Given the description of an element on the screen output the (x, y) to click on. 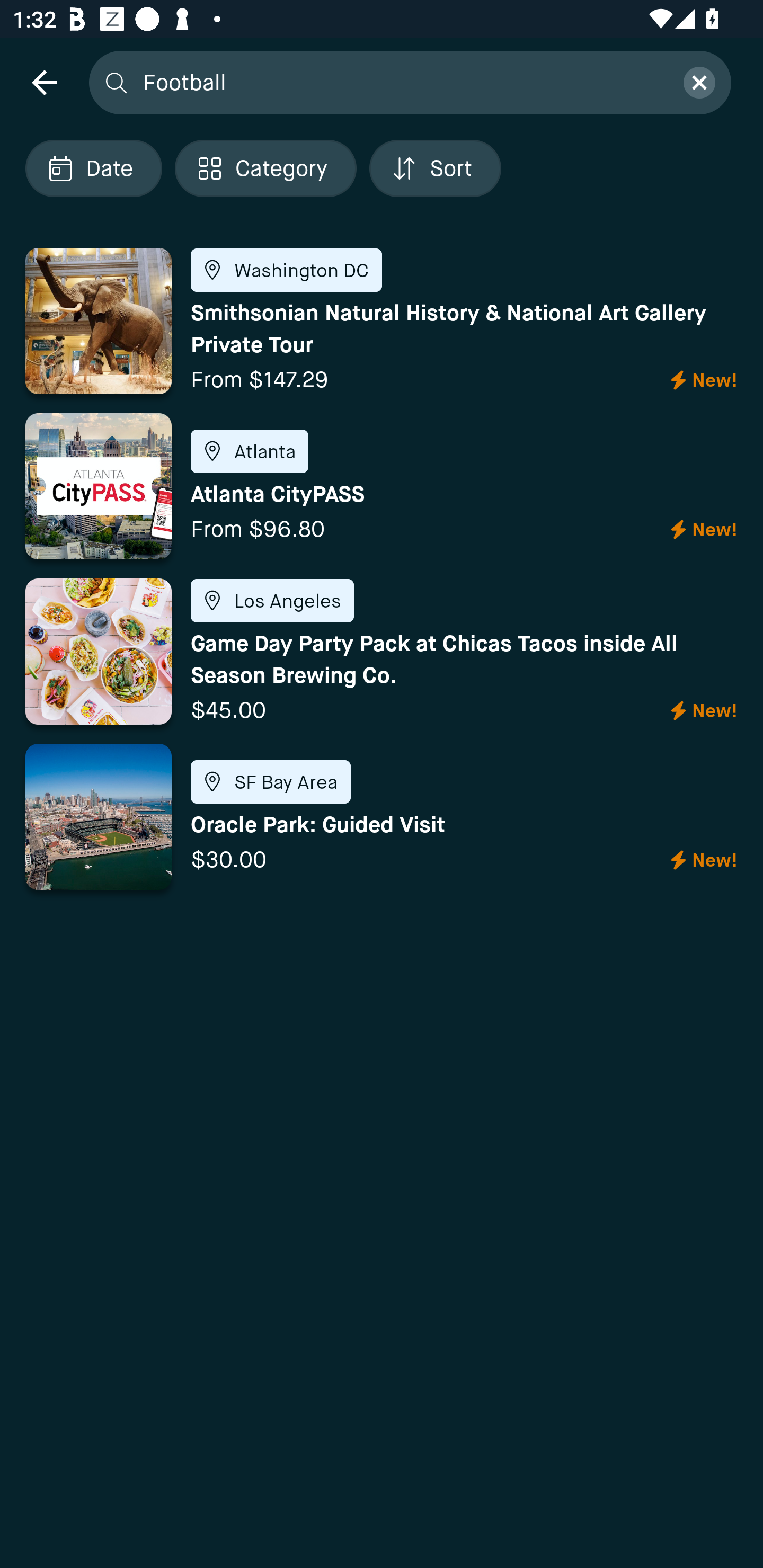
navigation icon (44, 81)
Football (402, 81)
Localized description Date (93, 168)
Localized description Category (265, 168)
Localized description Sort (435, 168)
